Given the description of an element on the screen output the (x, y) to click on. 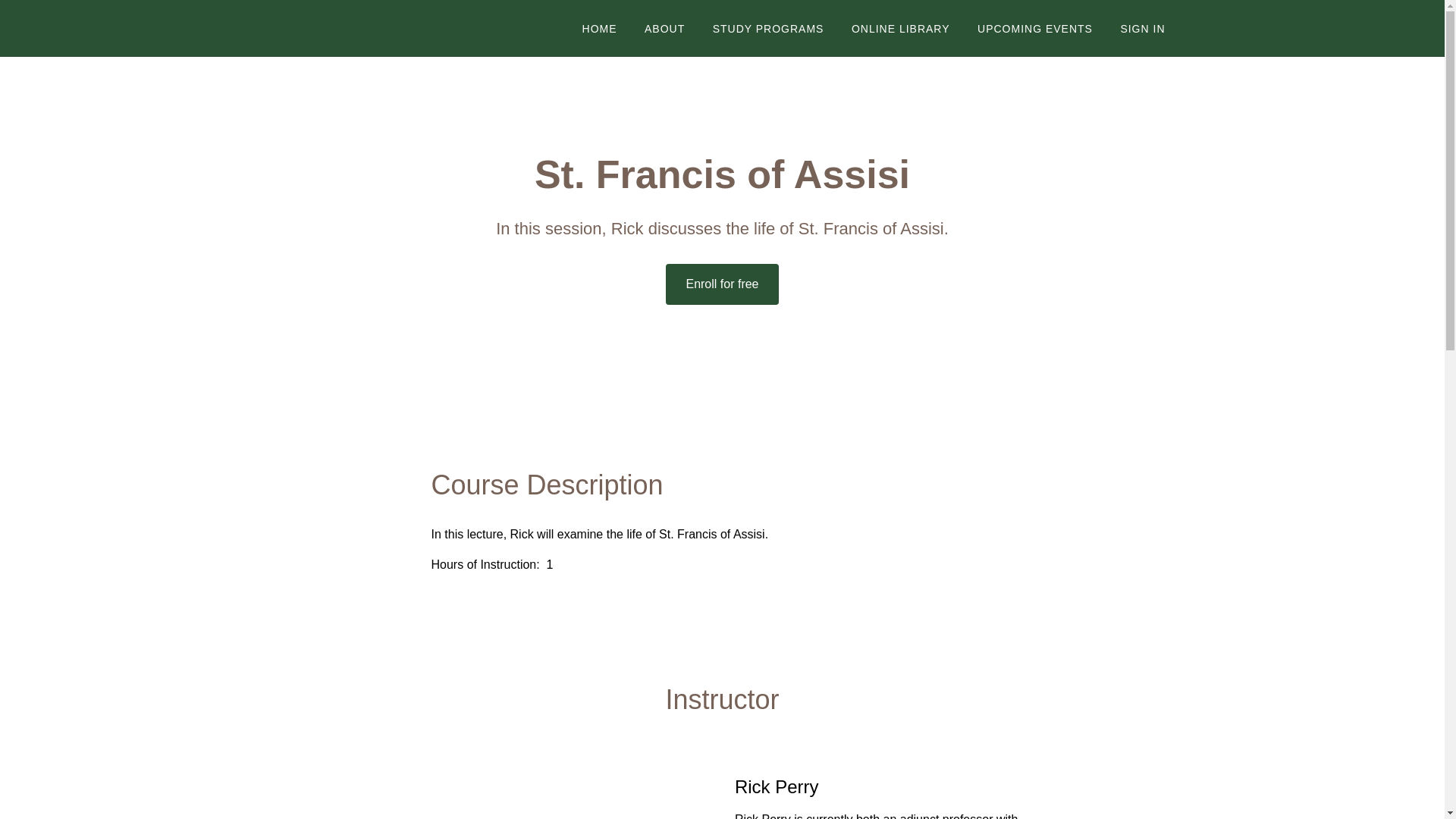
HOME (599, 28)
STUDY PROGRAMS (768, 28)
UPCOMING EVENTS (1034, 28)
SIGN IN (1141, 28)
ONLINE LIBRARY (900, 28)
Enroll for free (721, 283)
ABOUT (664, 28)
